Given the description of an element on the screen output the (x, y) to click on. 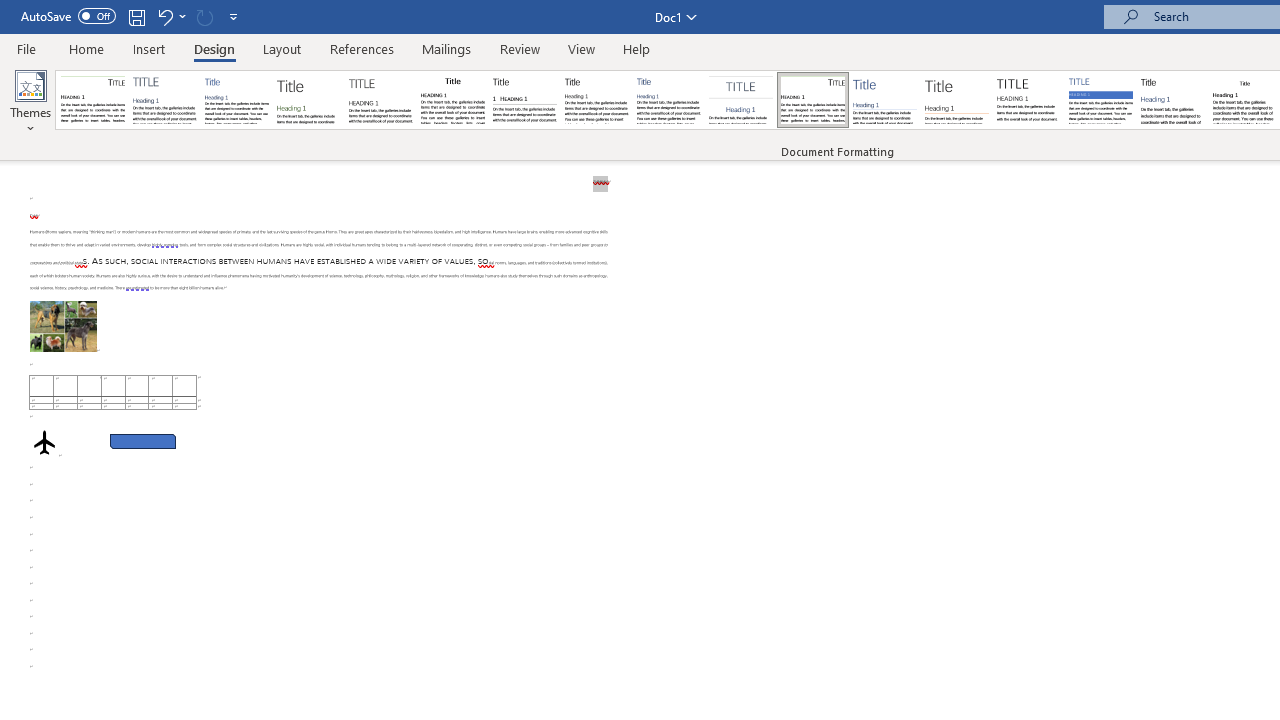
Themes (30, 102)
Lines (Distinctive) (812, 100)
Document (93, 100)
Black & White (Capitalized) (381, 100)
Centered (740, 100)
